Given the description of an element on the screen output the (x, y) to click on. 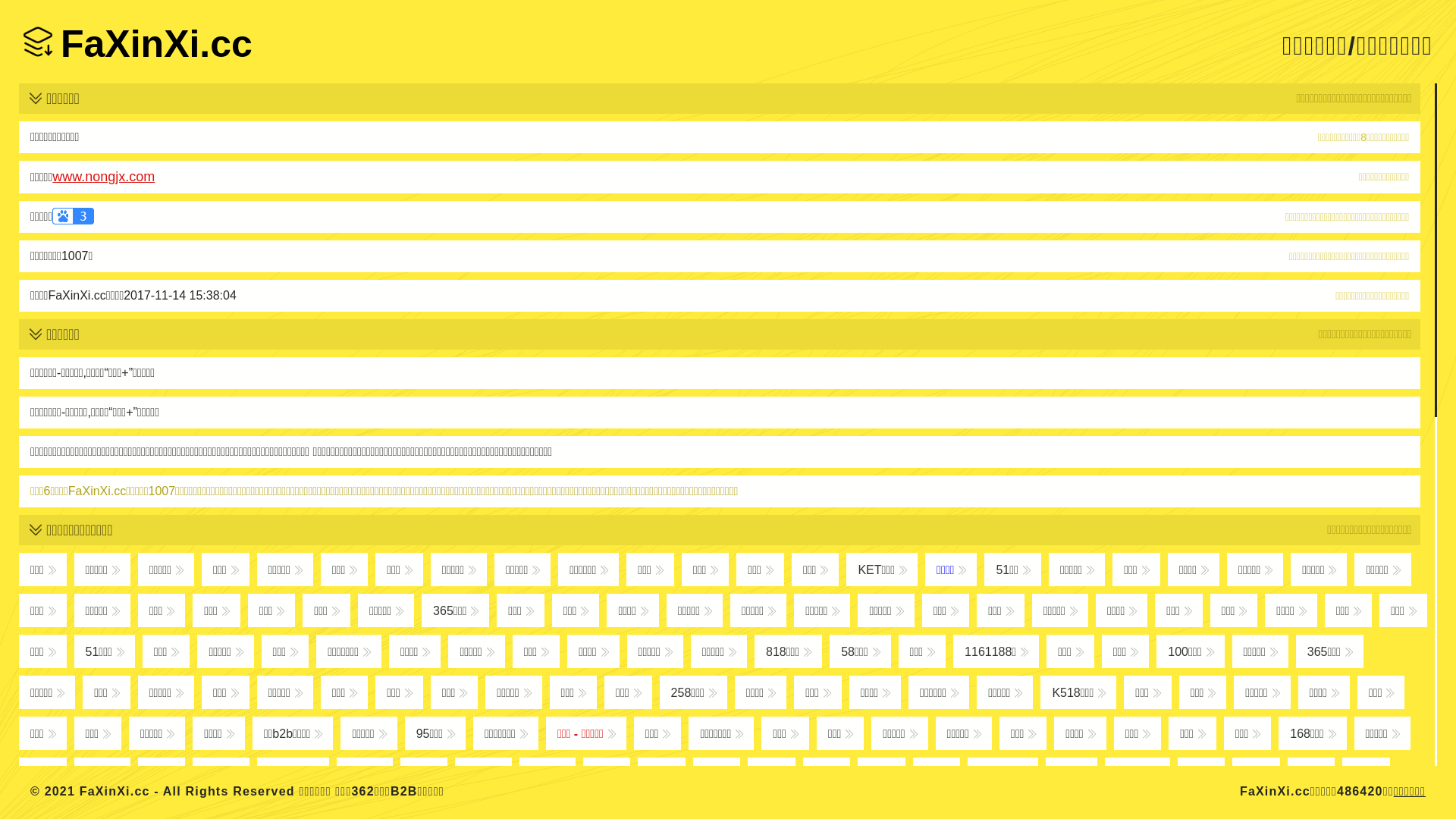
www.nongjx.com Element type: text (103, 176)
FaXinXi.cc Element type: text (137, 43)
